Given the description of an element on the screen output the (x, y) to click on. 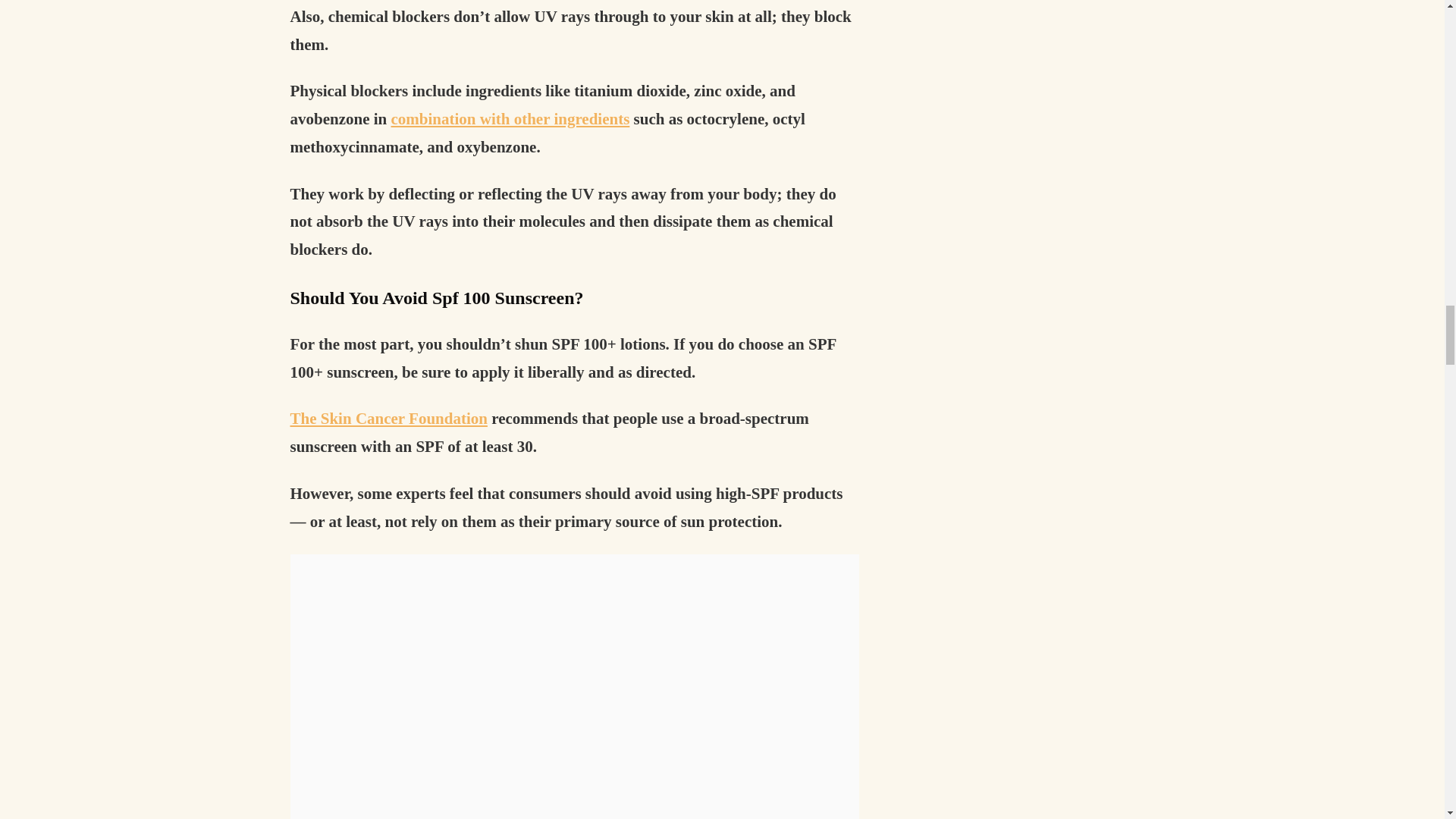
The Skin Cancer Foundation (387, 418)
combination with other ingredients (510, 118)
